Given the description of an element on the screen output the (x, y) to click on. 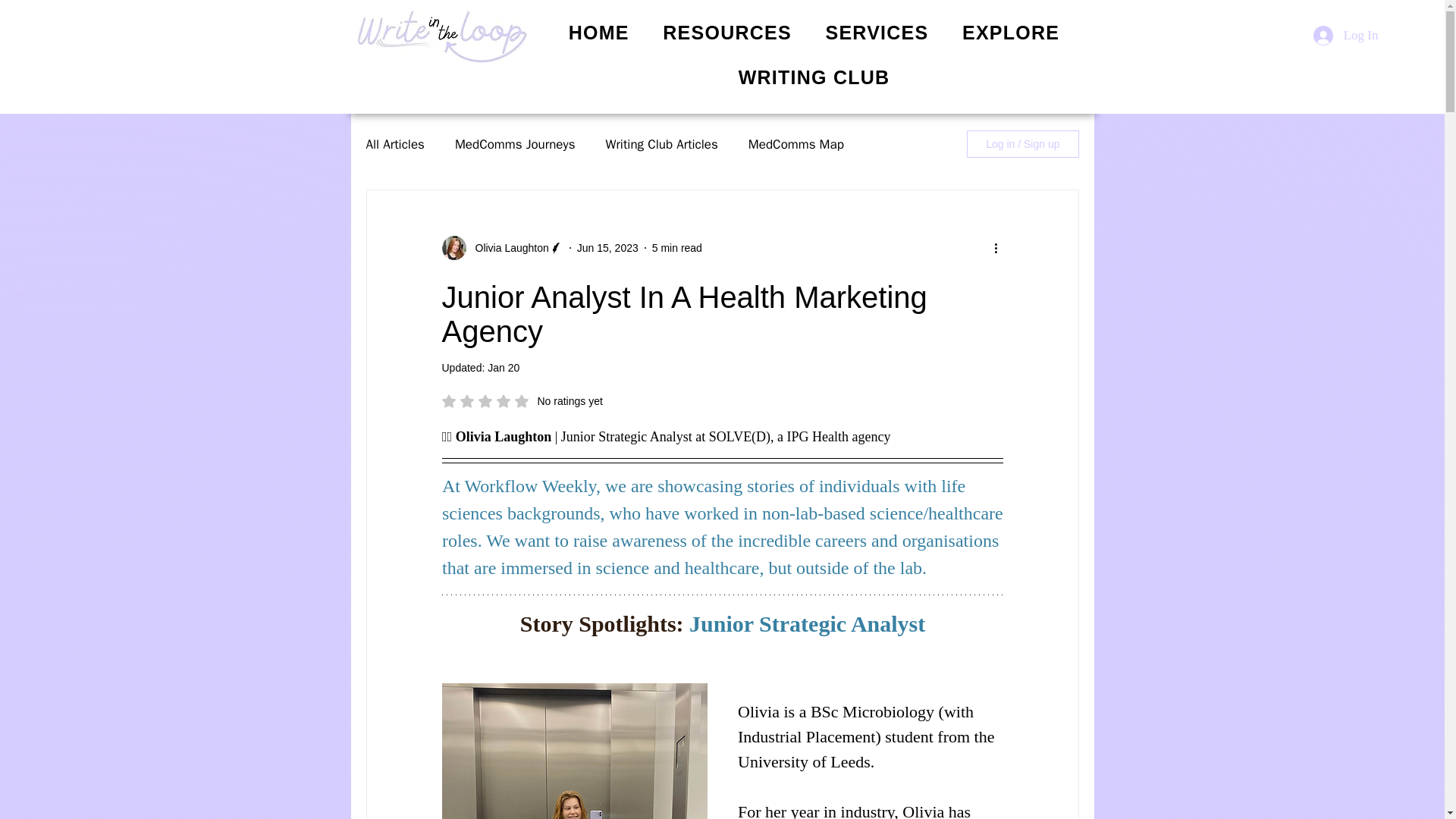
5 min read (676, 246)
RESOURCES (727, 32)
Jan 20 (503, 367)
Writing Club Articles (661, 143)
WRITING CLUB (814, 77)
Olivia Laughton (501, 247)
EXPLORE (1011, 32)
Olivia Laughton (506, 247)
HOME (598, 32)
MedComms Journeys (514, 143)
Write in the loop logo (441, 37)
Jun 15, 2023 (607, 246)
Log In (521, 400)
MedComms Map (1346, 34)
